Given the description of an element on the screen output the (x, y) to click on. 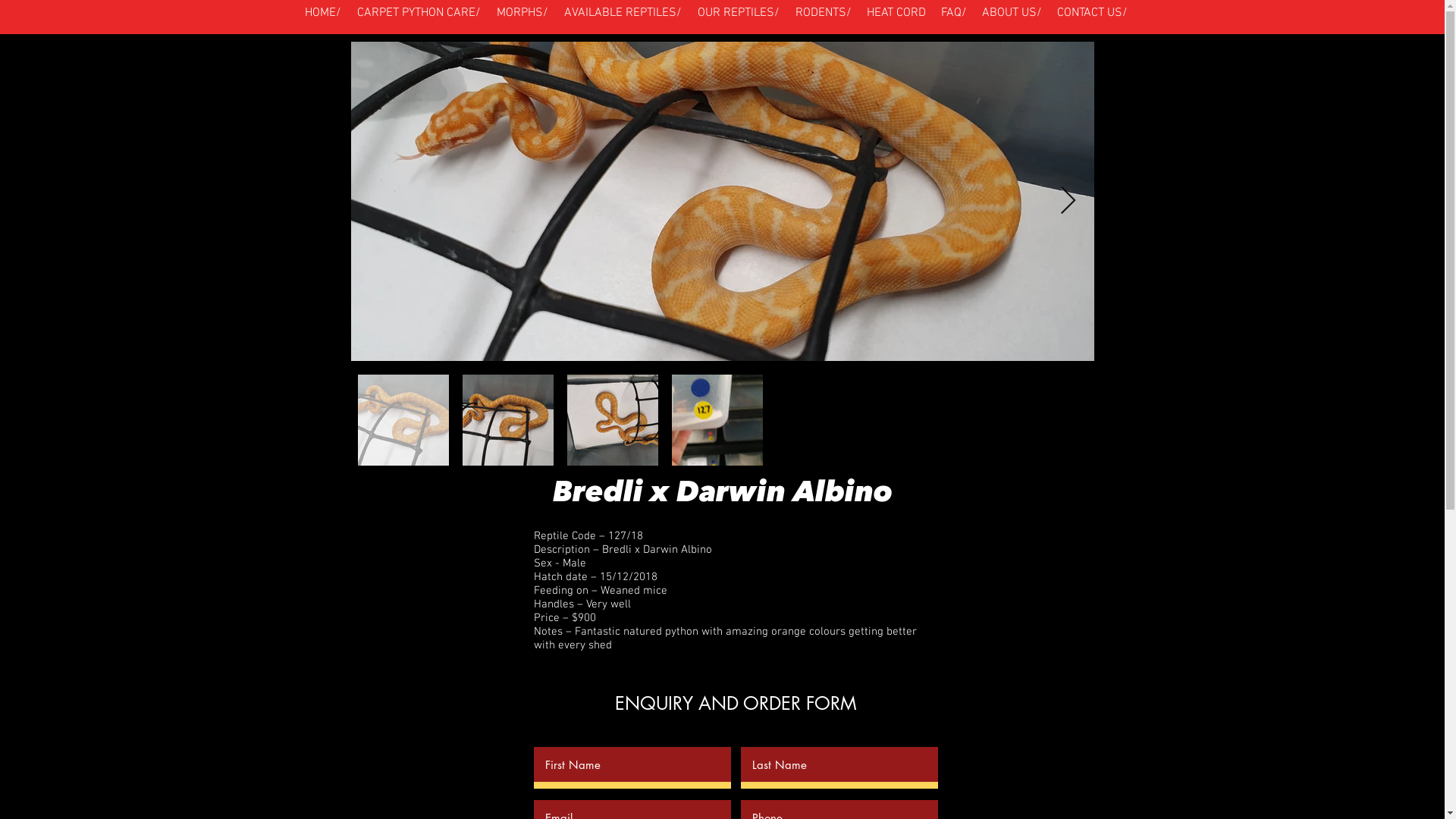
AVAILABLE REPTILES/ Element type: text (623, 12)
ABOUT US/ Element type: text (1010, 12)
HEAT CORD Element type: text (895, 12)
CARPET PYTHON CARE/ Element type: text (418, 12)
CONTACT US/ Element type: text (1092, 12)
MORPHS/ Element type: text (521, 12)
RODENTS/ Element type: text (822, 12)
OUR REPTILES/ Element type: text (738, 12)
FAQ/ Element type: text (952, 12)
HOME/ Element type: text (323, 12)
